Given the description of an element on the screen output the (x, y) to click on. 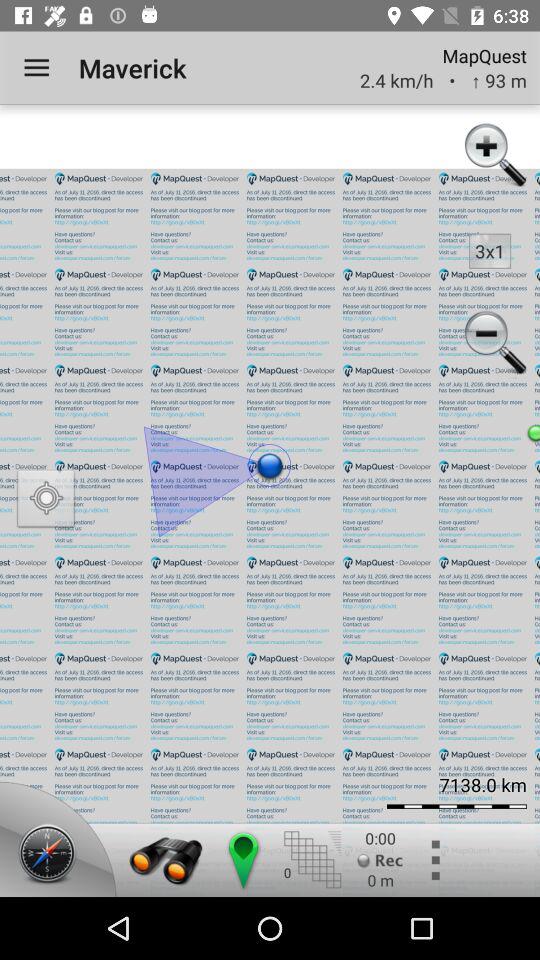
turn on gps (45, 500)
